Given the description of an element on the screen output the (x, y) to click on. 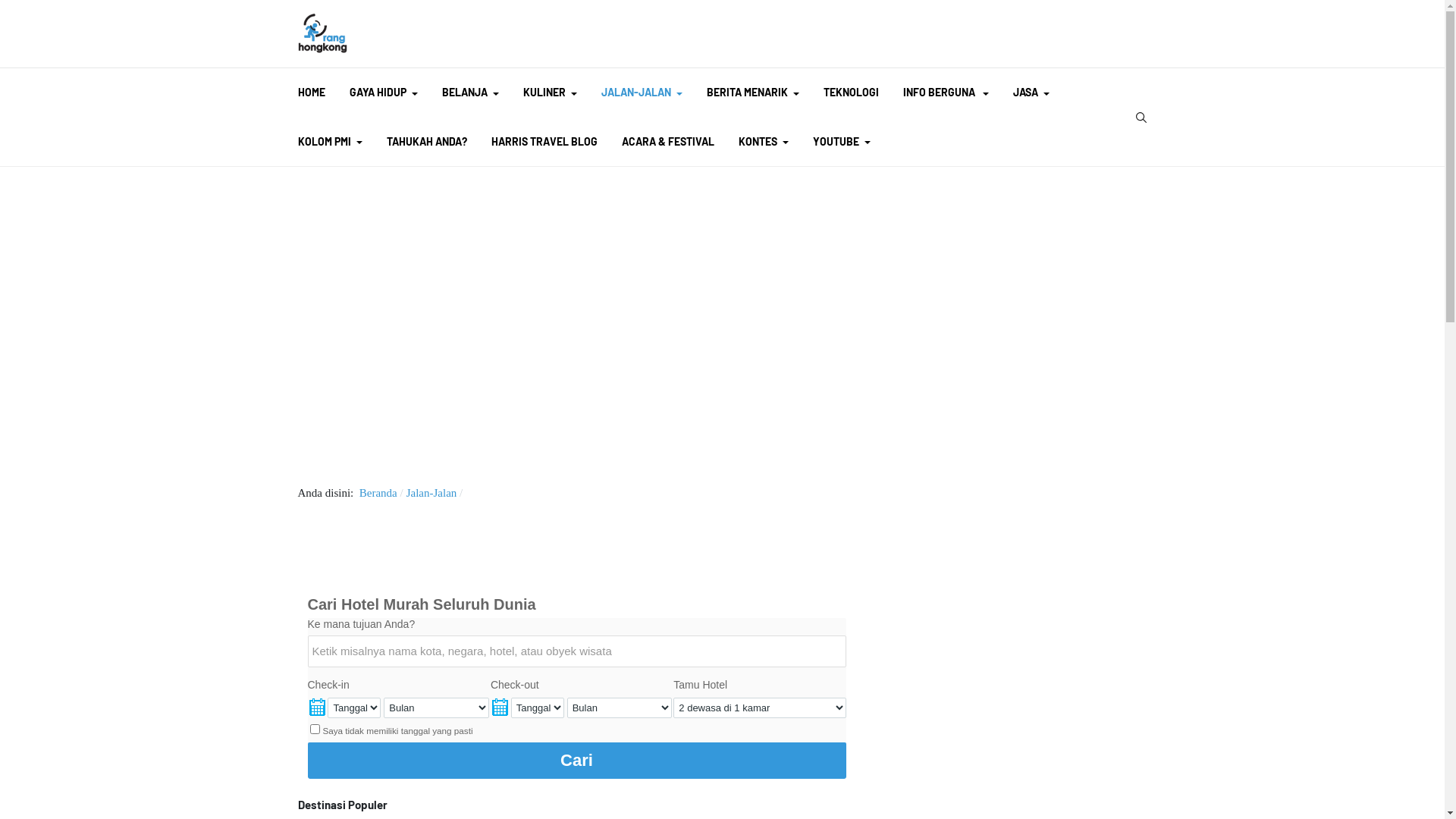
Jalan-Jalan Element type: text (431, 492)
YOUTUBE Element type: text (841, 141)
Oranghongkong.com Element type: hover (321, 33)
ACARA & FESTIVAL Element type: text (667, 141)
Beranda Element type: text (378, 492)
KOLOM PMI Element type: text (329, 141)
KULINER Element type: text (550, 92)
TAHUKAH ANDA? Element type: text (426, 141)
JALAN-JALAN Element type: text (640, 92)
BELANJA Element type: text (469, 92)
Ketik misalnya nama kota, negara, hotel, atau obyek wisata Element type: hover (576, 651)
... Element type: hover (499, 707)
... Element type: hover (316, 707)
BERITA MENARIK Element type: text (752, 92)
KONTES Element type: text (763, 141)
HARRIS TRAVEL BLOG Element type: text (544, 141)
Cari Element type: text (576, 760)
TEKNOLOGI Element type: text (850, 92)
GAYA HIDUP Element type: text (382, 92)
JASA Element type: text (1031, 92)
HOME Element type: text (310, 92)
Advertisement Element type: hover (721, 321)
